Given the description of an element on the screen output the (x, y) to click on. 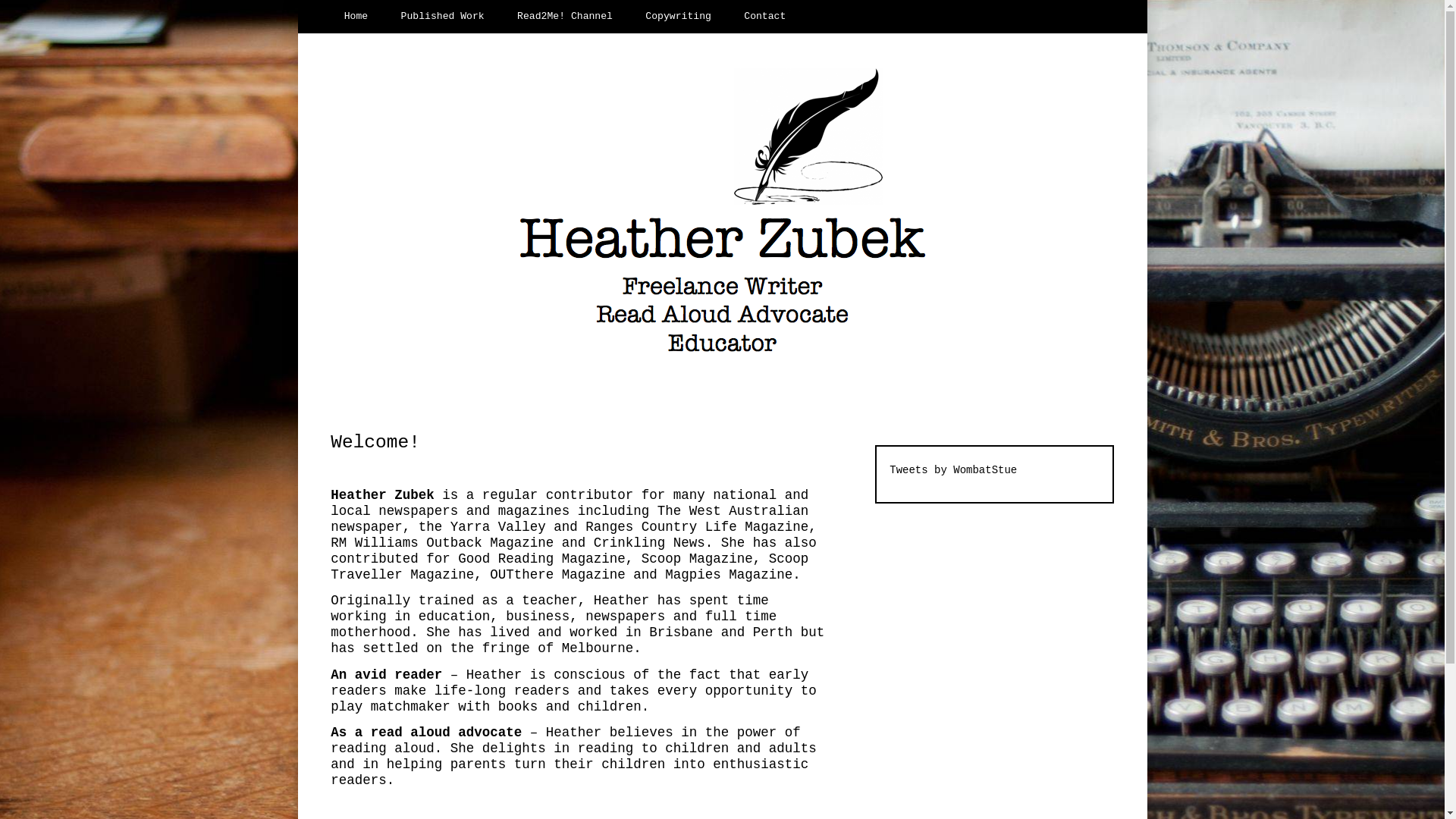
Home Element type: text (355, 16)
Welcome! Element type: text (375, 442)
Published Work Element type: text (442, 16)
Contact Element type: text (765, 16)
Read2Me! Channel Element type: text (565, 16)
Tweets by WombatStue Element type: text (952, 470)
Copywriting Element type: text (678, 16)
